Given the description of an element on the screen output the (x, y) to click on. 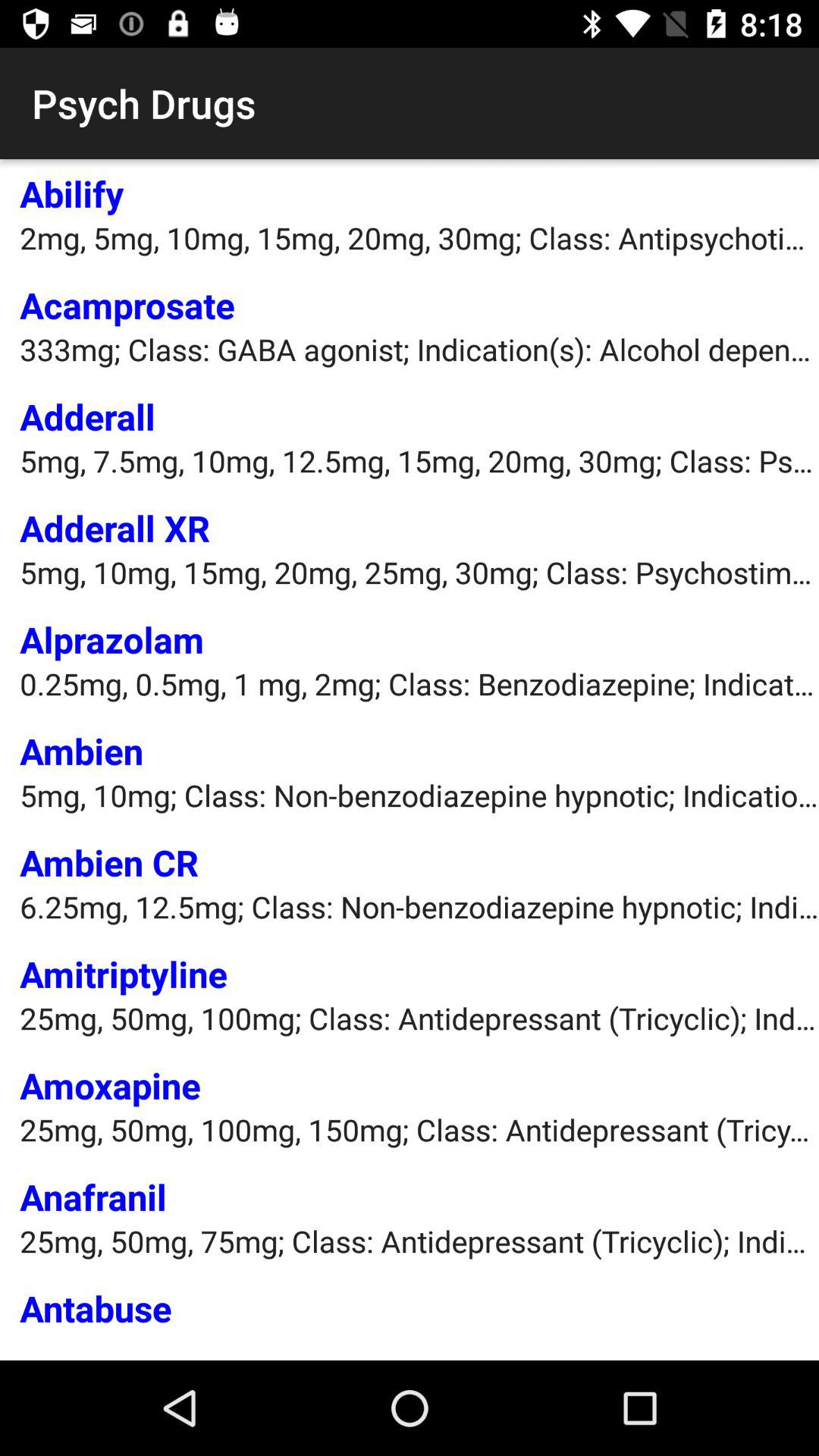
turn on the antabuse app (95, 1308)
